Given the description of an element on the screen output the (x, y) to click on. 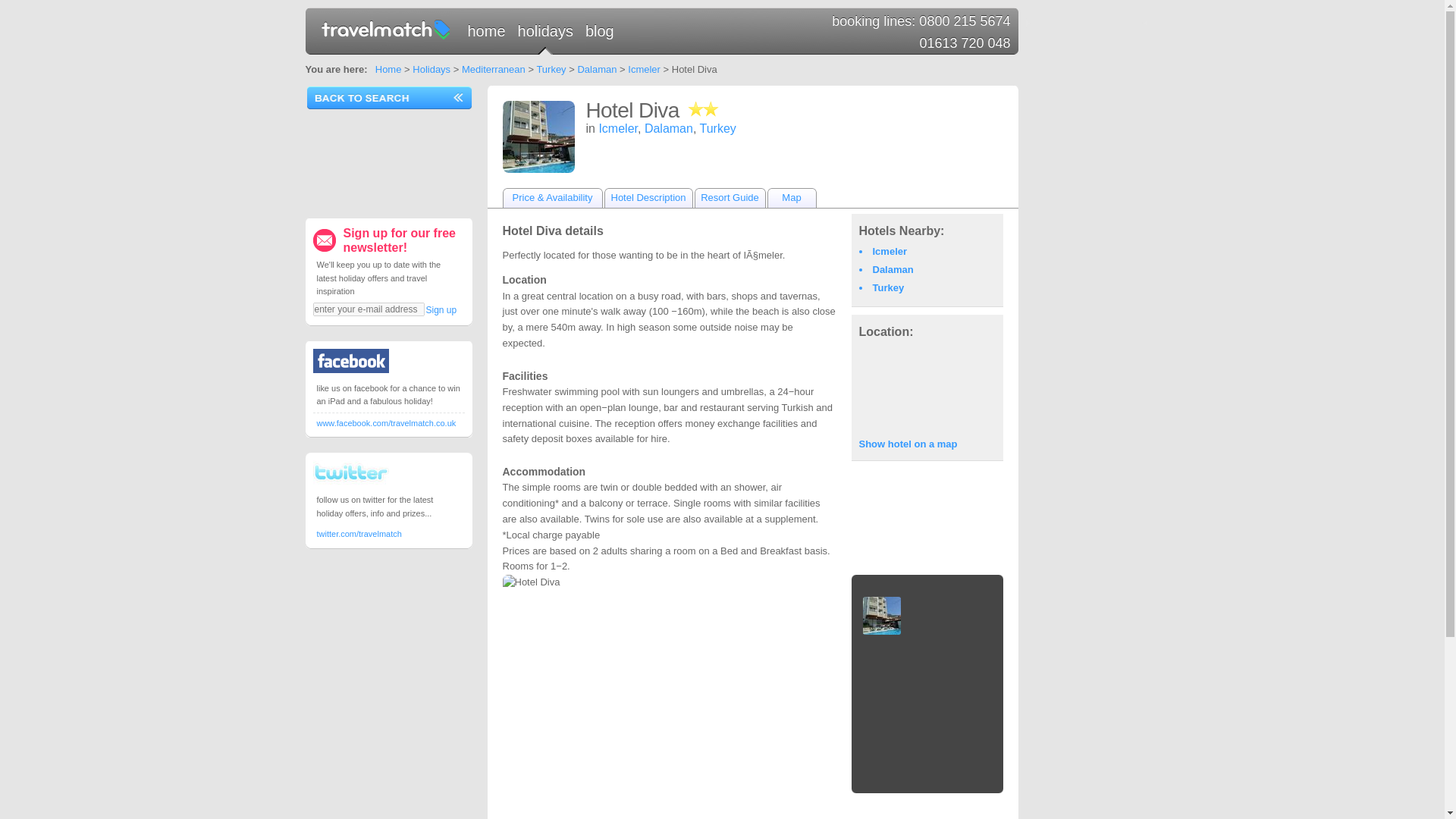
home (489, 36)
resort location on map (926, 386)
Home (388, 69)
enter your e-mail address (368, 309)
holidays (545, 36)
Mediterranean (493, 69)
Show hotel on a map (907, 443)
travelmatch Home (489, 36)
Sign up (441, 309)
Hotel Diva Photo (881, 615)
